Given the description of an element on the screen output the (x, y) to click on. 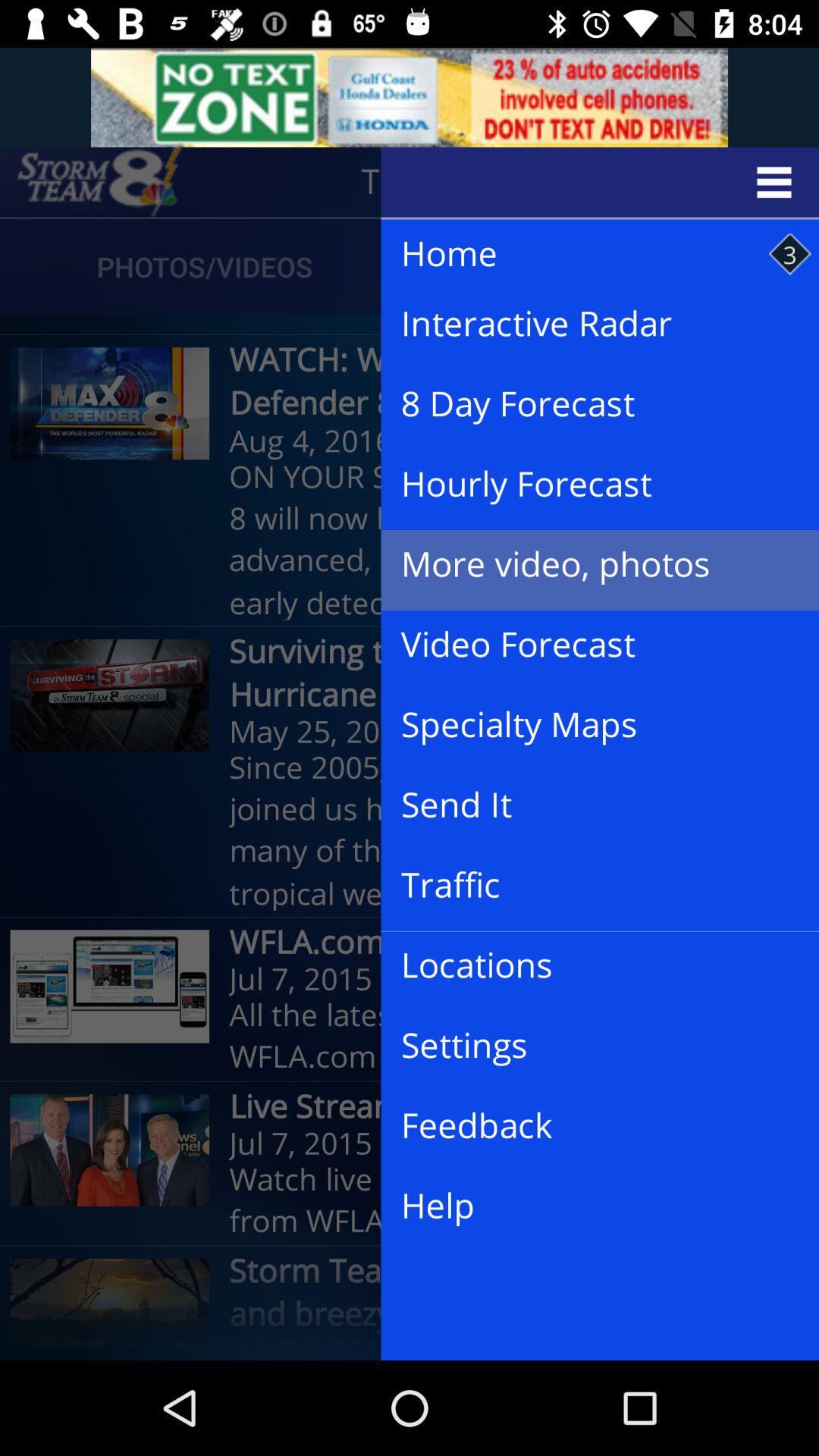
launch the item to the right of photos/videos (584, 254)
